Given the description of an element on the screen output the (x, y) to click on. 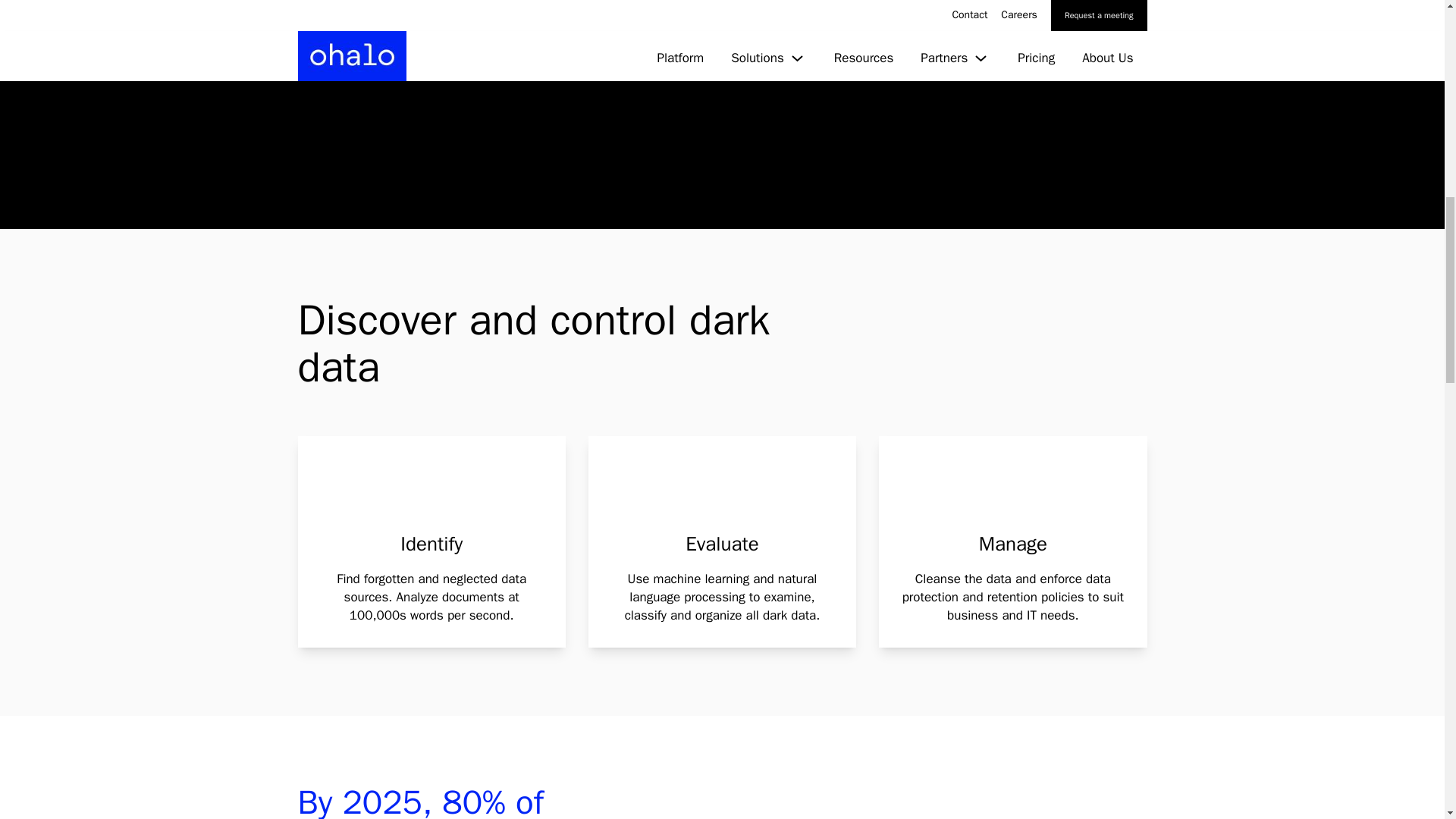
Screen analytics animated (721, 492)
Analysis in hand animated (1012, 492)
Dark data graphic (503, 77)
Capture animated (431, 492)
